Given the description of an element on the screen output the (x, y) to click on. 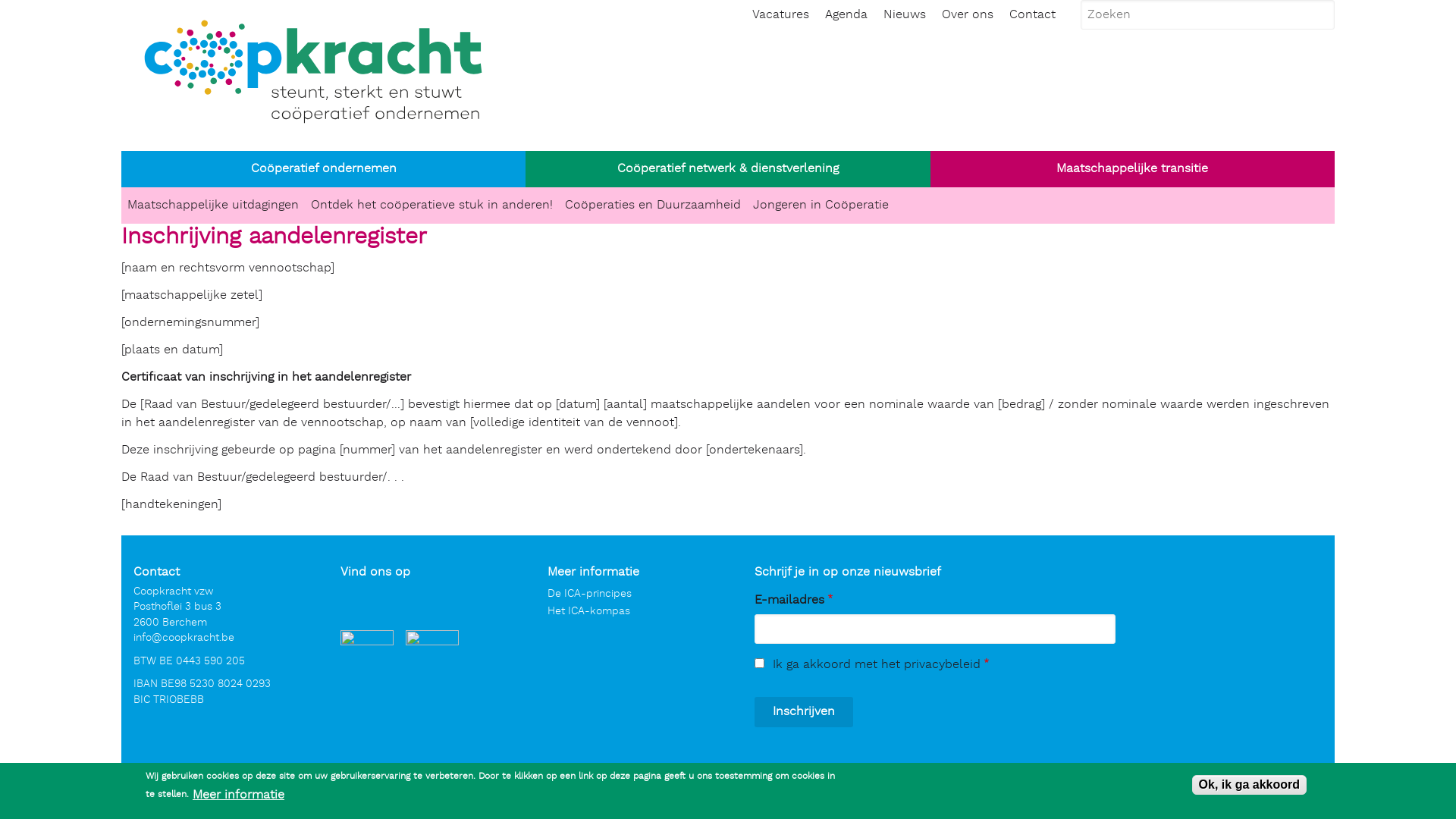
Overslaan en naar de inhoud gaan Element type: text (0, 0)
Het ICA-kompas Element type: text (588, 611)
Meer informatie Element type: text (238, 795)
Ok, ik ga akkoord Element type: text (1249, 784)
Contact Element type: text (1032, 15)
Geef de woorden op waarnaar u wilt zoeken. Element type: hover (1207, 14)
Maatschappelijke transitie Element type: text (1132, 168)
Vacatures Element type: text (780, 15)
Nieuws Element type: text (904, 15)
Over ons Element type: text (967, 15)
disclaimer Element type: text (721, 786)
Inschrijven Element type: text (803, 711)
info@coopkracht.be Element type: text (183, 637)
De ICA-principes Element type: text (589, 593)
Agenda Element type: text (846, 15)
privacyverklaring Element type: text (797, 786)
Maatschappelijke uitdagingen Element type: text (212, 205)
